Given the description of an element on the screen output the (x, y) to click on. 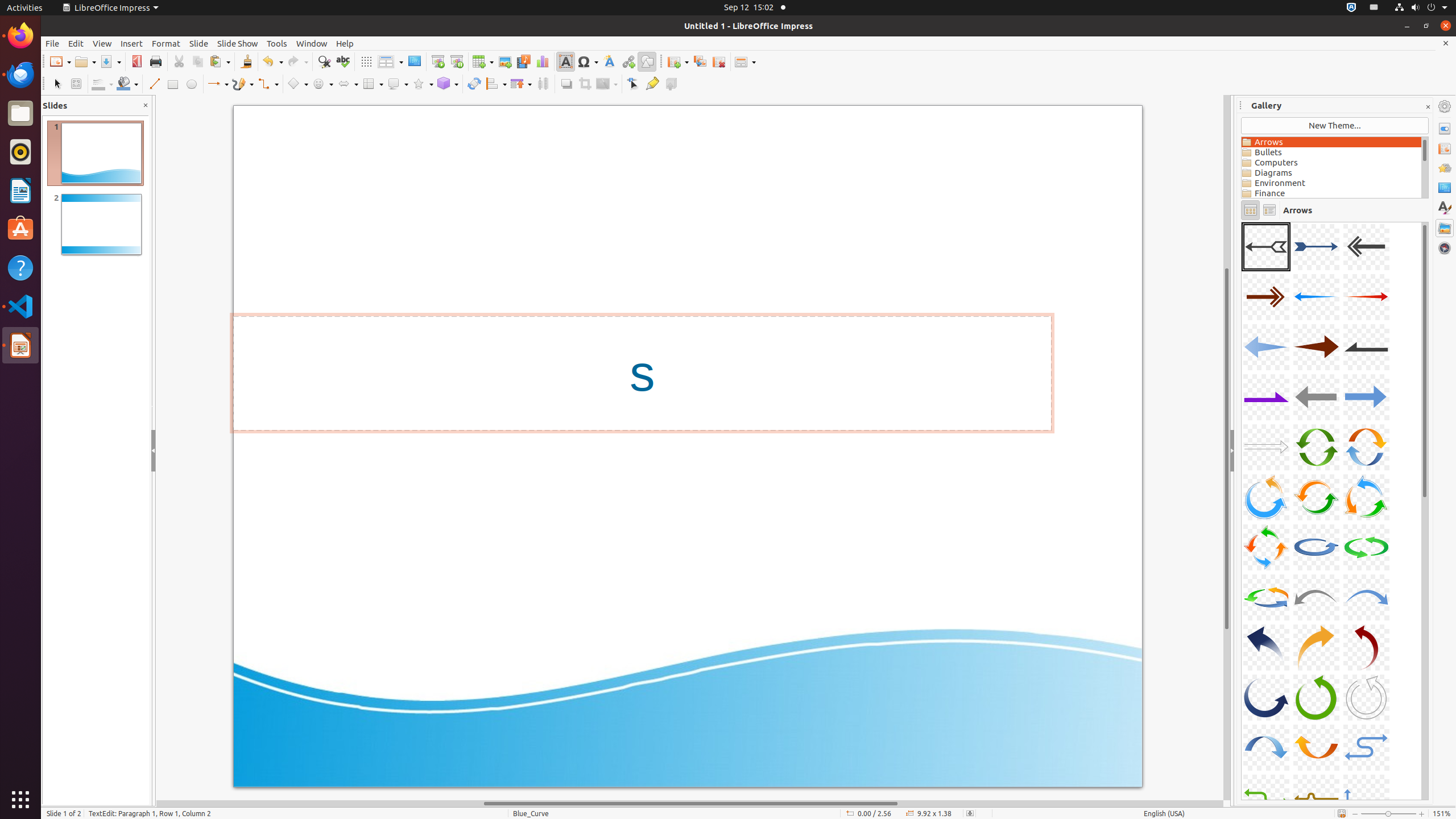
A22-CircleArrow Element type: list-item (1265, 596)
A09-Arrow-Gray-Left Element type: list-item (1365, 346)
Thunderbird Mail Element type: push-button (20, 74)
A05-Arrow-Blue-Left Element type: list-item (1315, 296)
A04-Arrow-DarkRed-Right Element type: list-item (1265, 296)
